Given the description of an element on the screen output the (x, y) to click on. 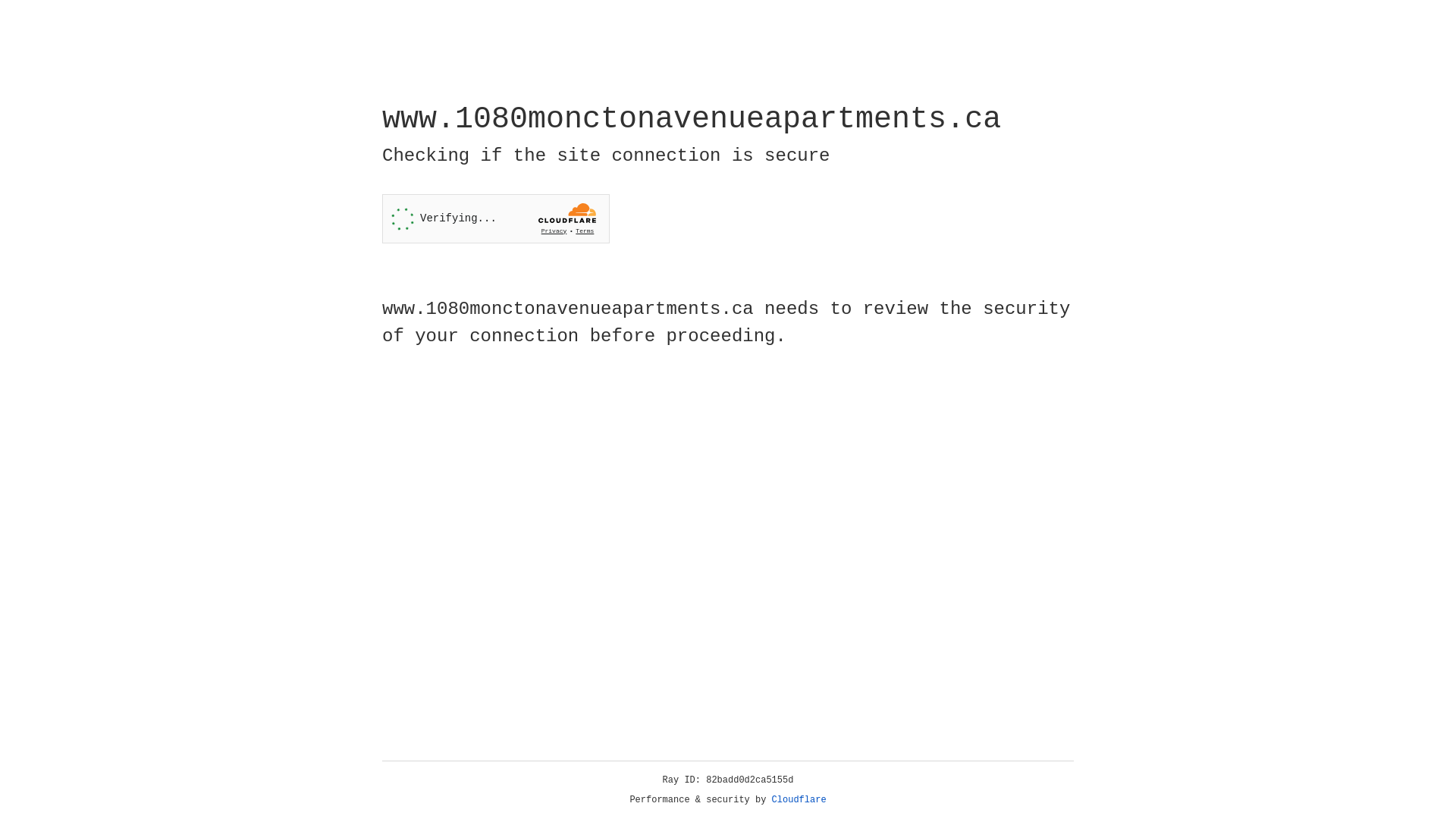
Widget containing a Cloudflare security challenge Element type: hover (495, 218)
Cloudflare Element type: text (798, 799)
